Given the description of an element on the screen output the (x, y) to click on. 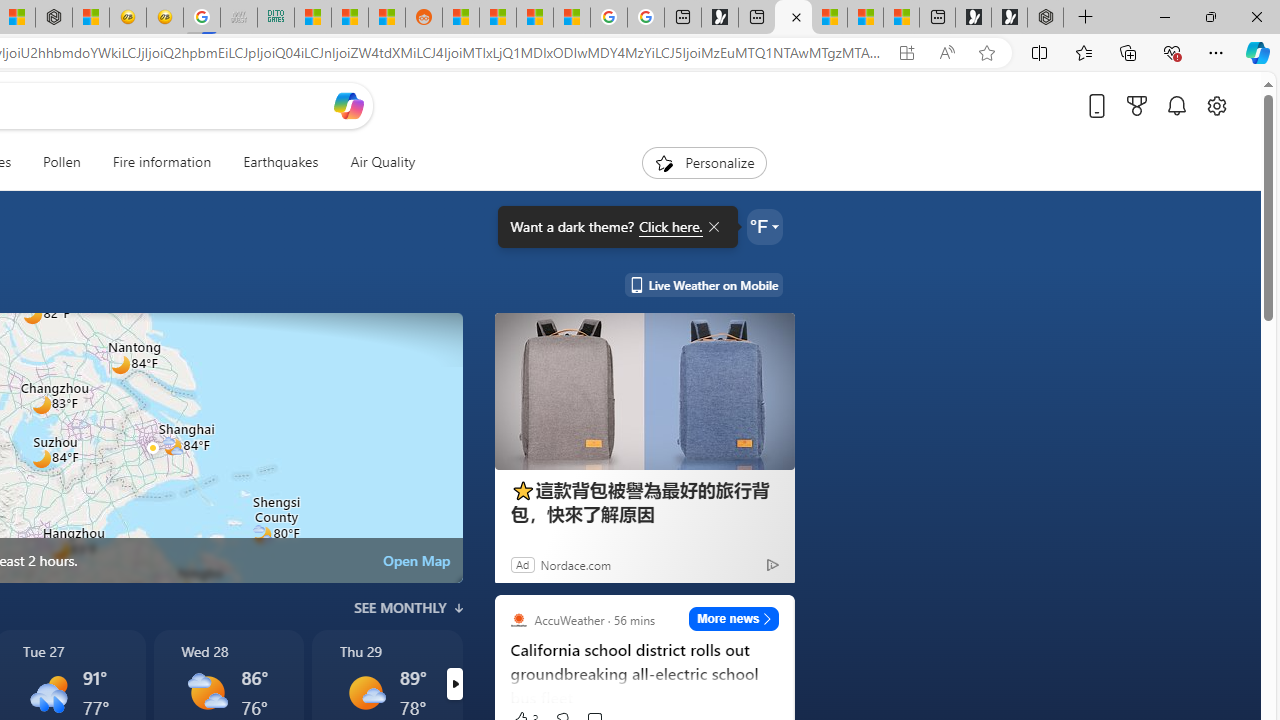
Fire information (162, 162)
Open Copilot (347, 105)
Navy Quest (239, 17)
More news (733, 618)
R******* | Trusted Community Engagement and Contributions (460, 17)
Partly sunny (206, 692)
Microsoft Start Gaming (719, 17)
MSNBC - MSN (312, 17)
Ad (521, 564)
Weather settings (764, 226)
Nordace - #1 Japanese Best-Seller - Siena Smart Backpack (53, 17)
Rain showers (49, 692)
